Given the description of an element on the screen output the (x, y) to click on. 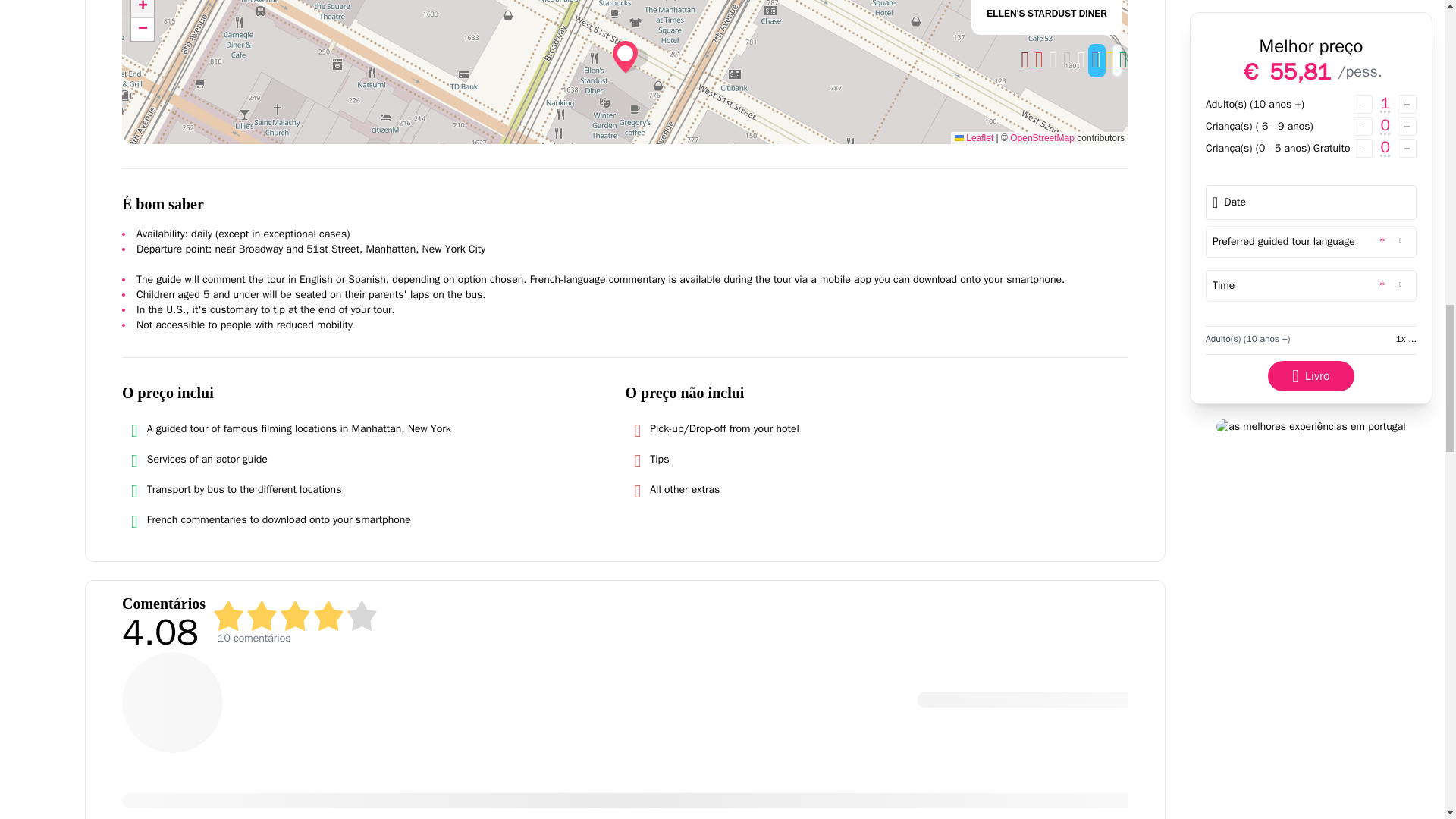
A JavaScript library for interactive maps (973, 137)
Zoom in (142, 9)
Zoom out (142, 29)
Leaflet (973, 137)
OpenStreetMap (1042, 137)
